Given the description of an element on the screen output the (x, y) to click on. 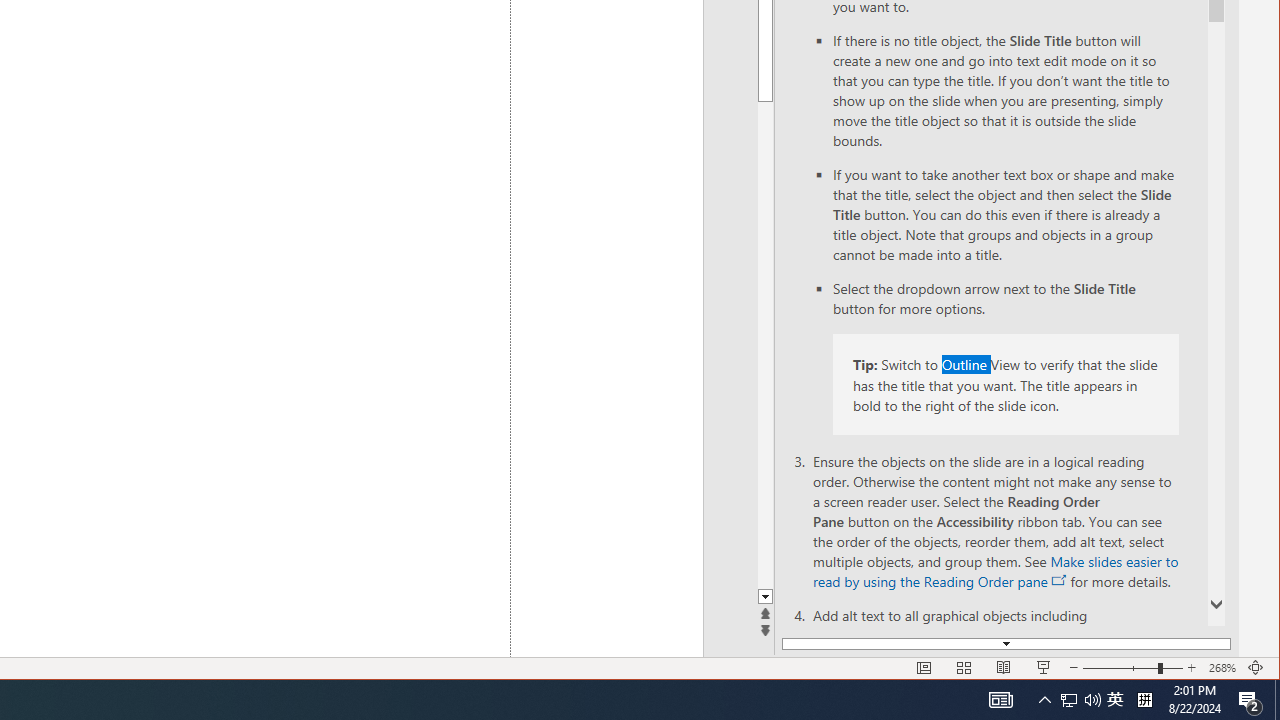
Zoom 268% (1222, 668)
openinnewwindow (1059, 580)
